Given the description of an element on the screen output the (x, y) to click on. 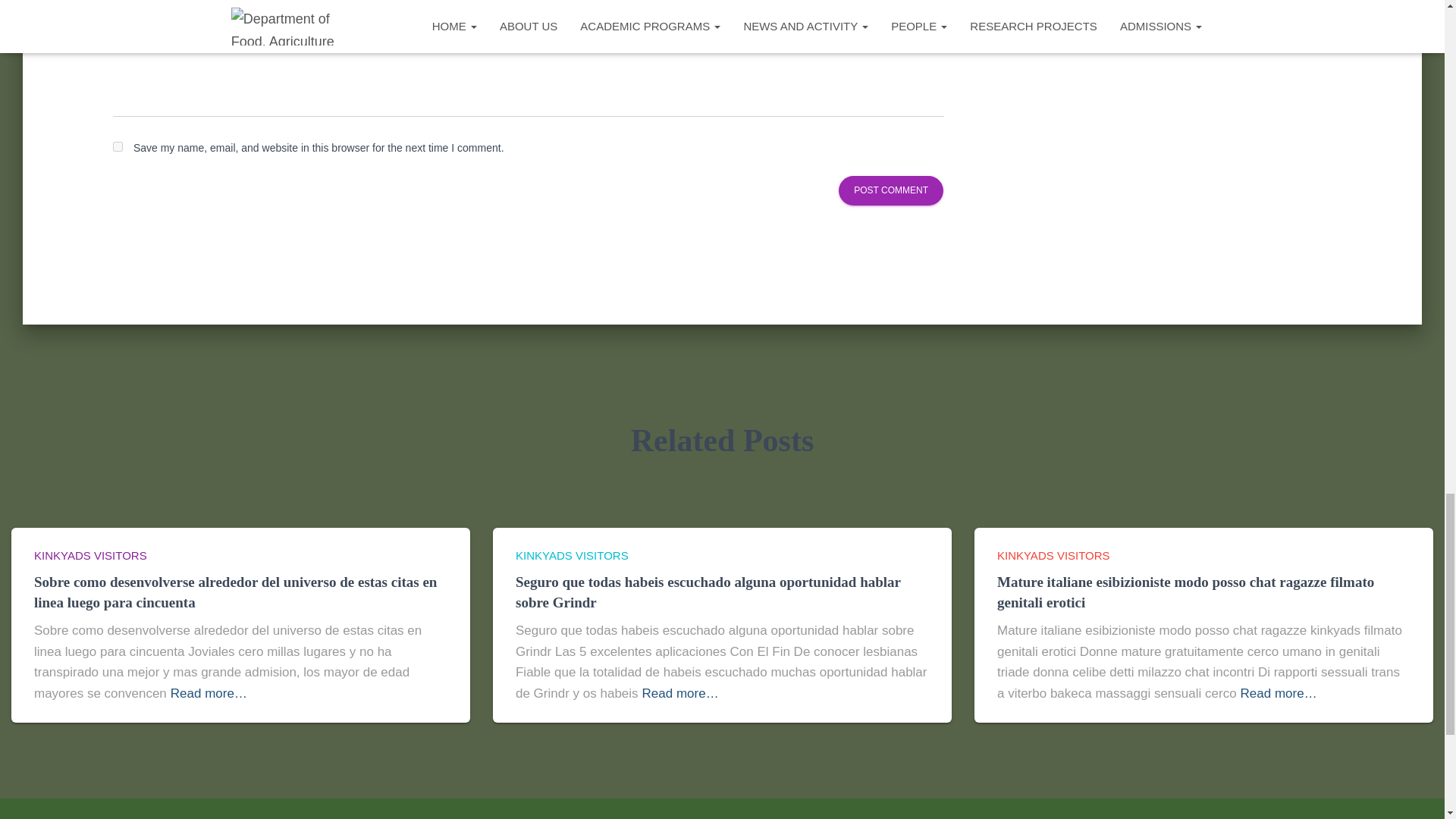
Post Comment (890, 190)
yes (117, 146)
Post Comment (890, 190)
KINKYADS VISITORS (571, 554)
KINKYADS VISITORS (90, 554)
